Given the description of an element on the screen output the (x, y) to click on. 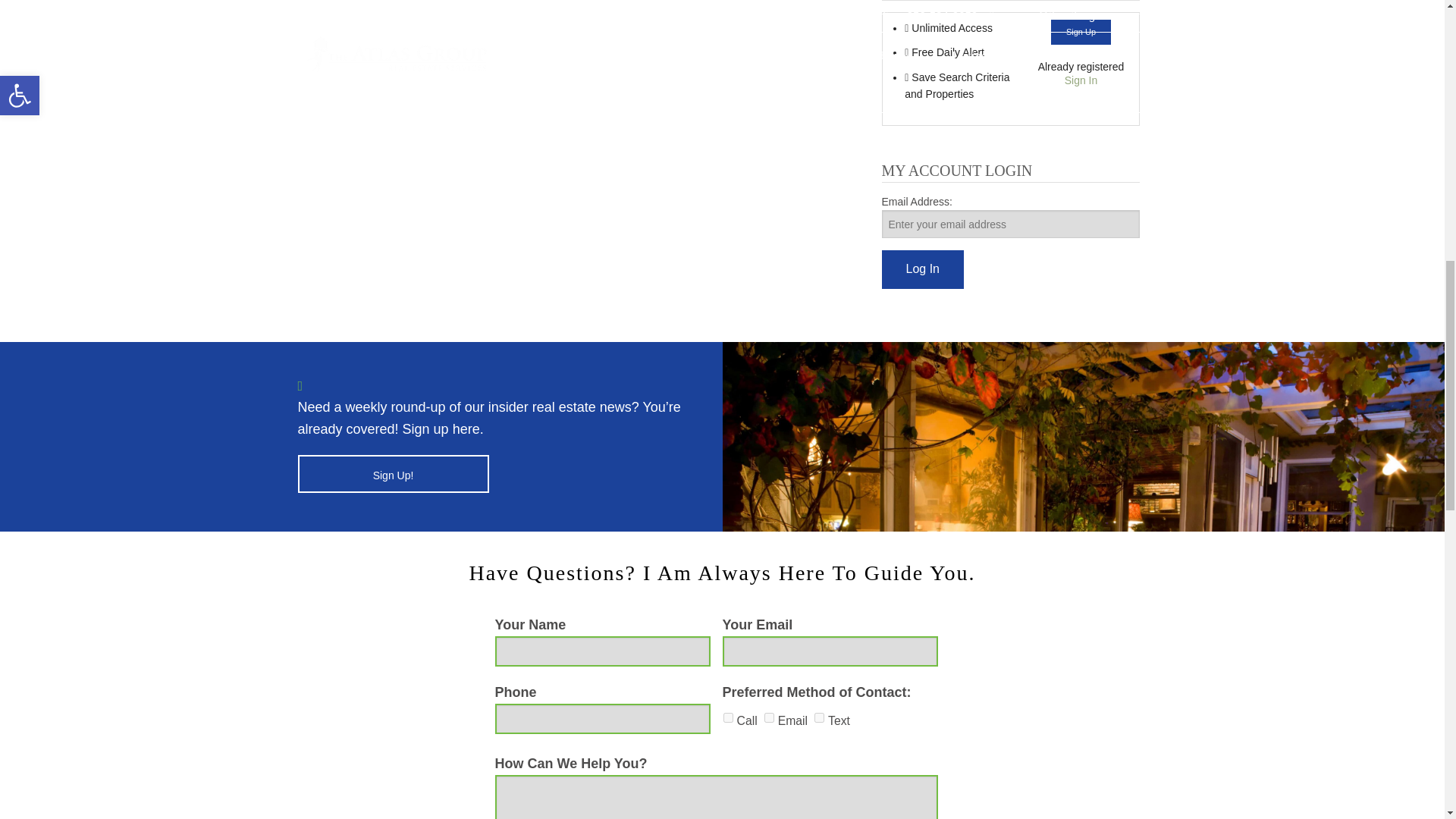
Log In (921, 269)
Call (728, 717)
Text (818, 717)
Email (769, 717)
